Given the description of an element on the screen output the (x, y) to click on. 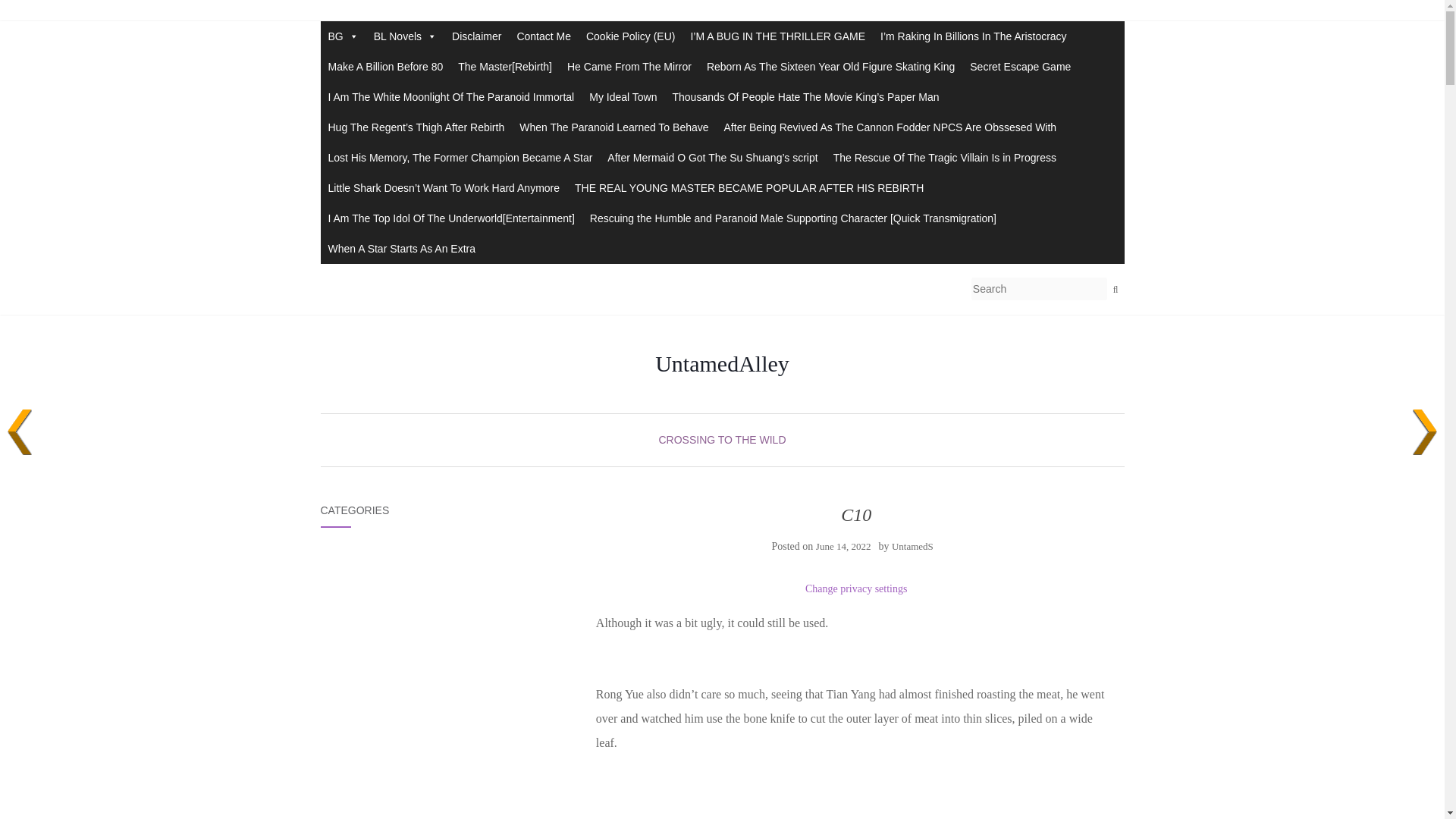
I Am The White Moonlight Of The Paranoid Immortal (450, 96)
UntamedAlley (722, 363)
When The Paranoid Learned To Behave (614, 127)
THE REAL YOUNG MASTER BECAME POPULAR AFTER HIS REBIRTH (749, 187)
Make A Billion Before 80 (384, 66)
UntamedAlley (722, 363)
My Ideal Town (621, 96)
Reborn As The Sixteen Year Old Figure Skating King (830, 66)
The Rescue Of The Tragic Villain Is in Progress (944, 157)
He Came From The Mirror (628, 66)
